Given the description of an element on the screen output the (x, y) to click on. 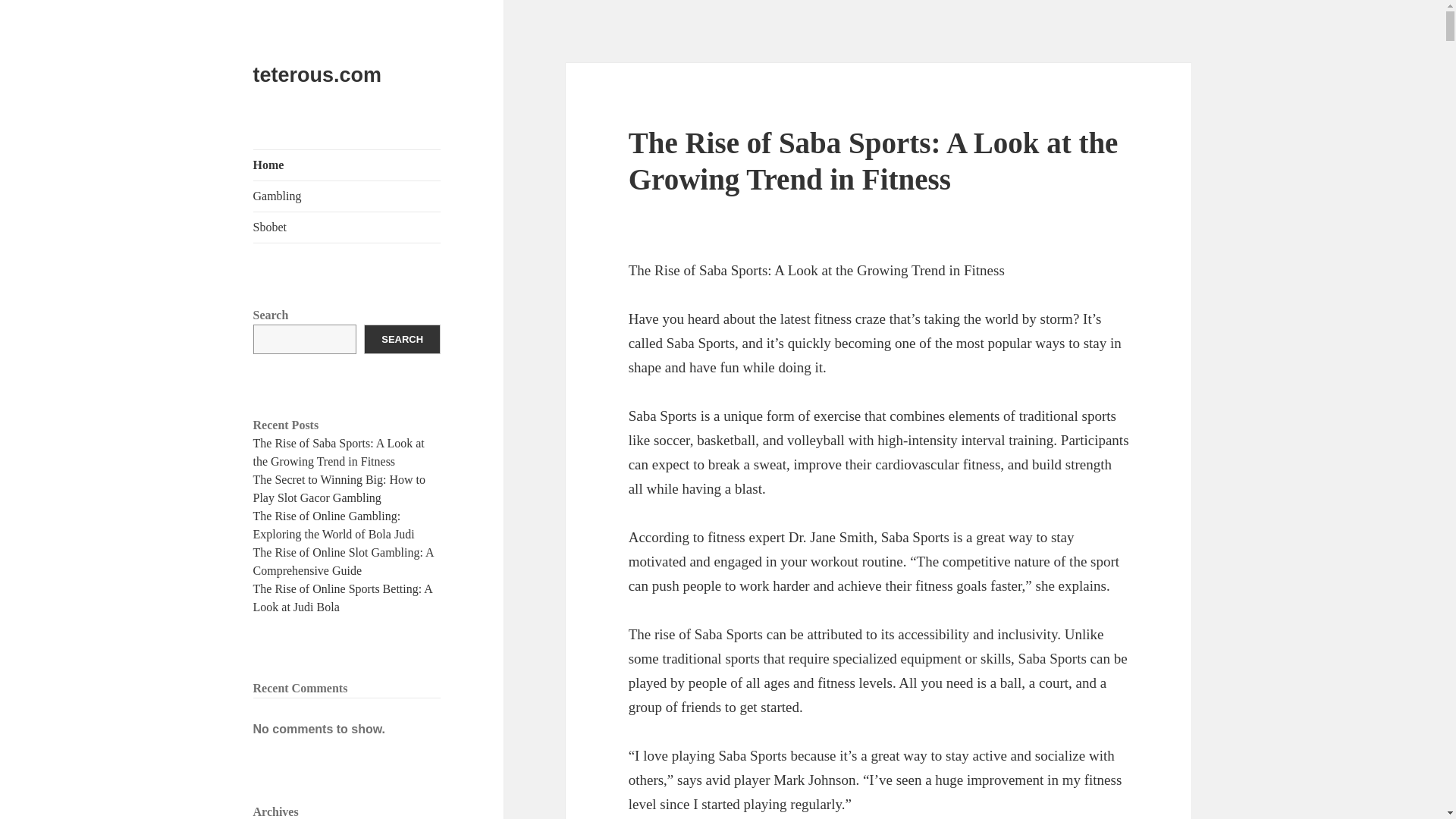
Sbobet (347, 227)
SEARCH (402, 338)
Gambling (347, 195)
The Rise of Online Sports Betting: A Look at Judi Bola (342, 597)
The Secret to Winning Big: How to Play Slot Gacor Gambling (339, 488)
teterous.com (317, 74)
The Rise of Online Slot Gambling: A Comprehensive Guide (343, 561)
